Given the description of an element on the screen output the (x, y) to click on. 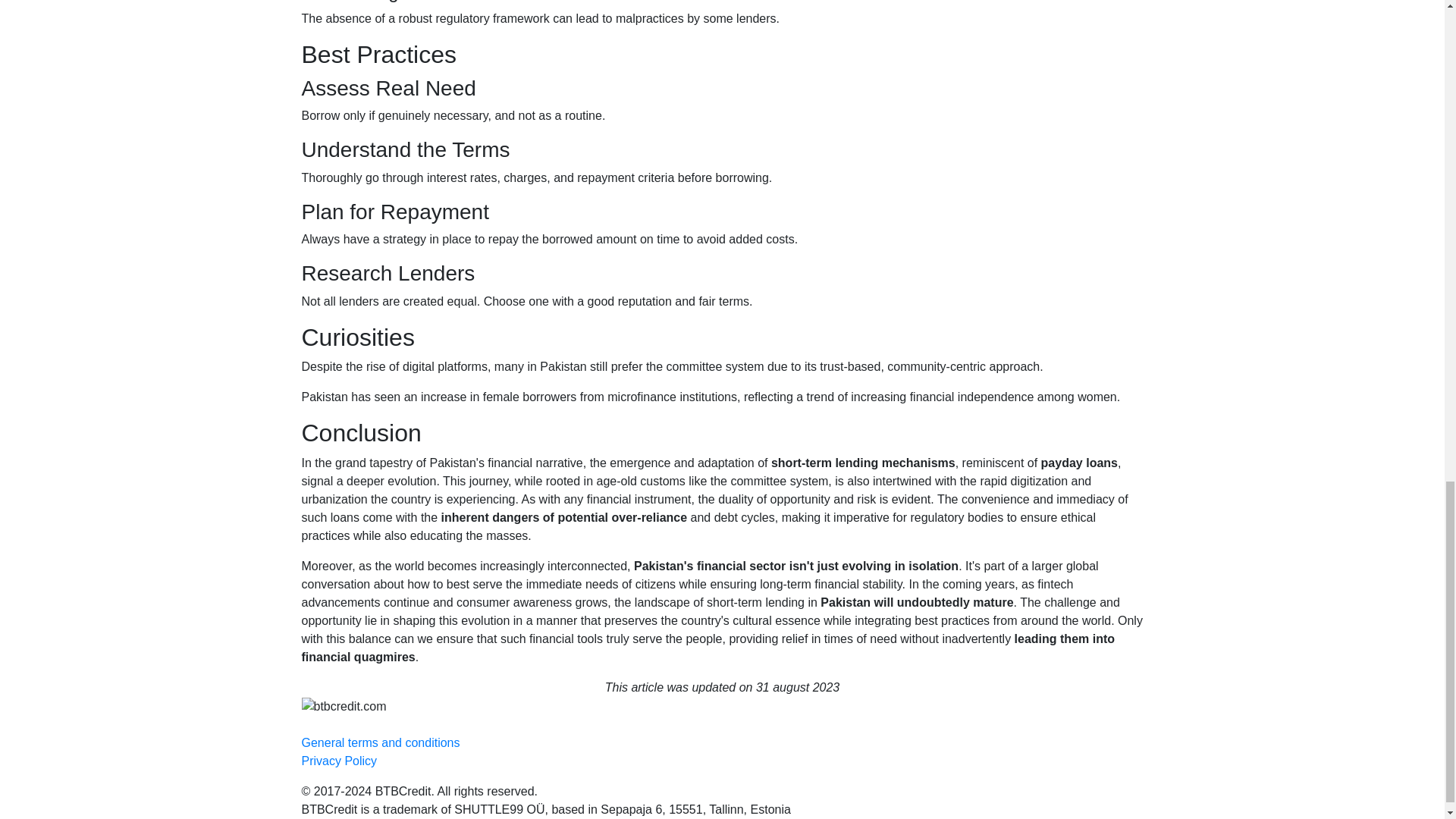
General terms and conditions (380, 742)
Privacy Policy (339, 760)
